Given the description of an element on the screen output the (x, y) to click on. 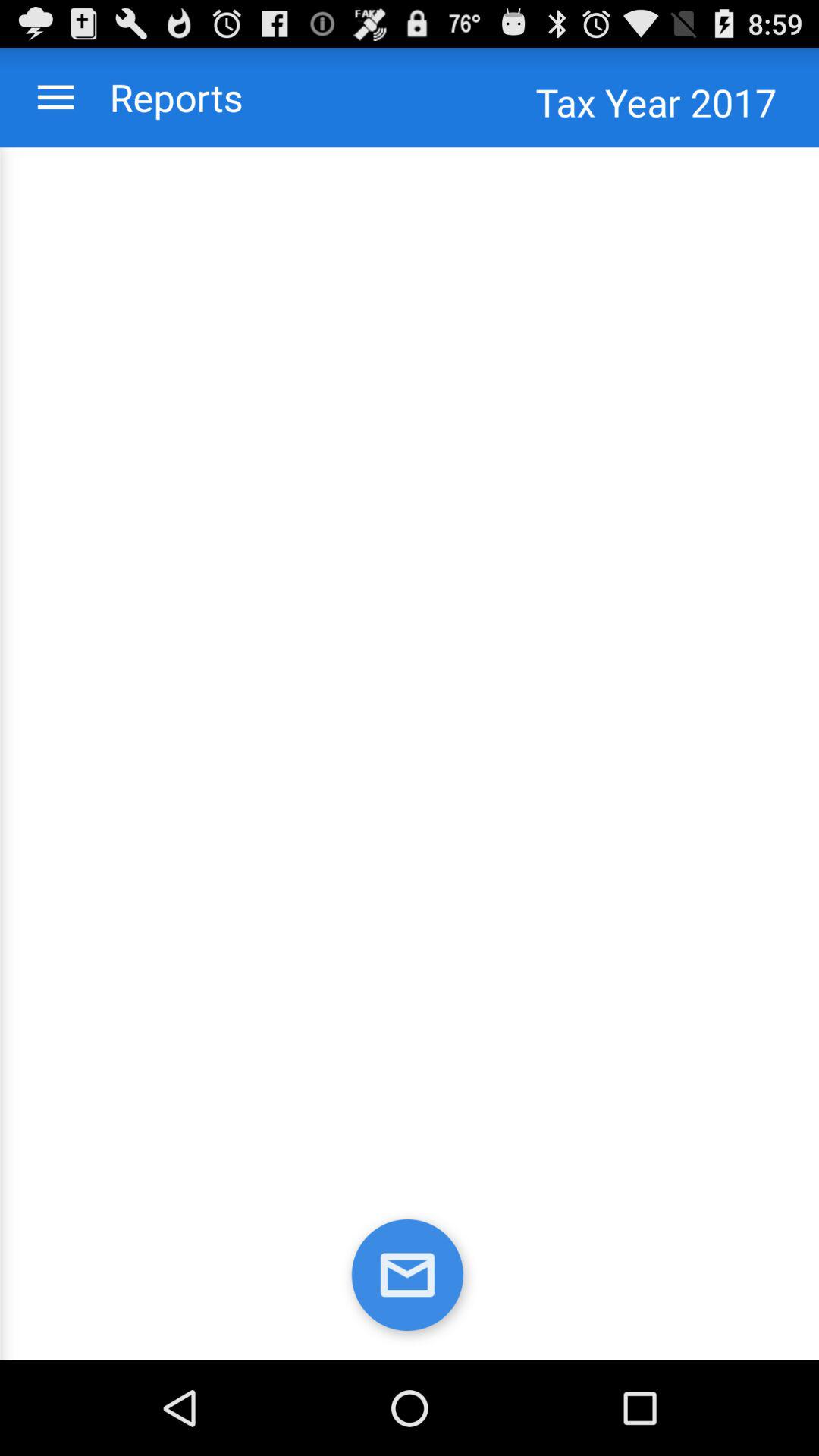
this gives the more options (55, 97)
